Given the description of an element on the screen output the (x, y) to click on. 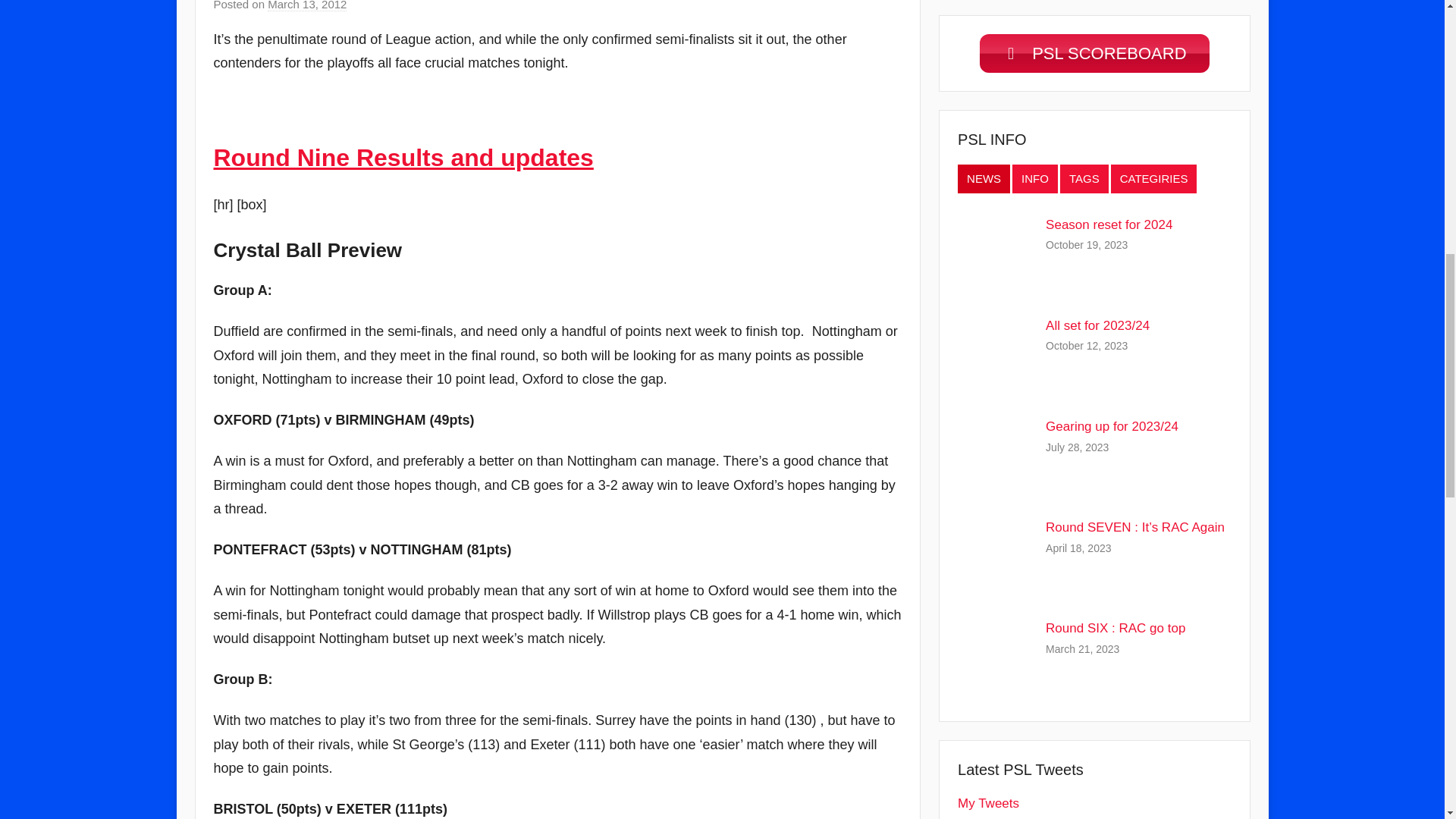
Round SIX : RAC go top (1115, 627)
13-Mar, Round Nine (404, 157)
Season reset for 2024 (1108, 224)
